Given the description of an element on the screen output the (x, y) to click on. 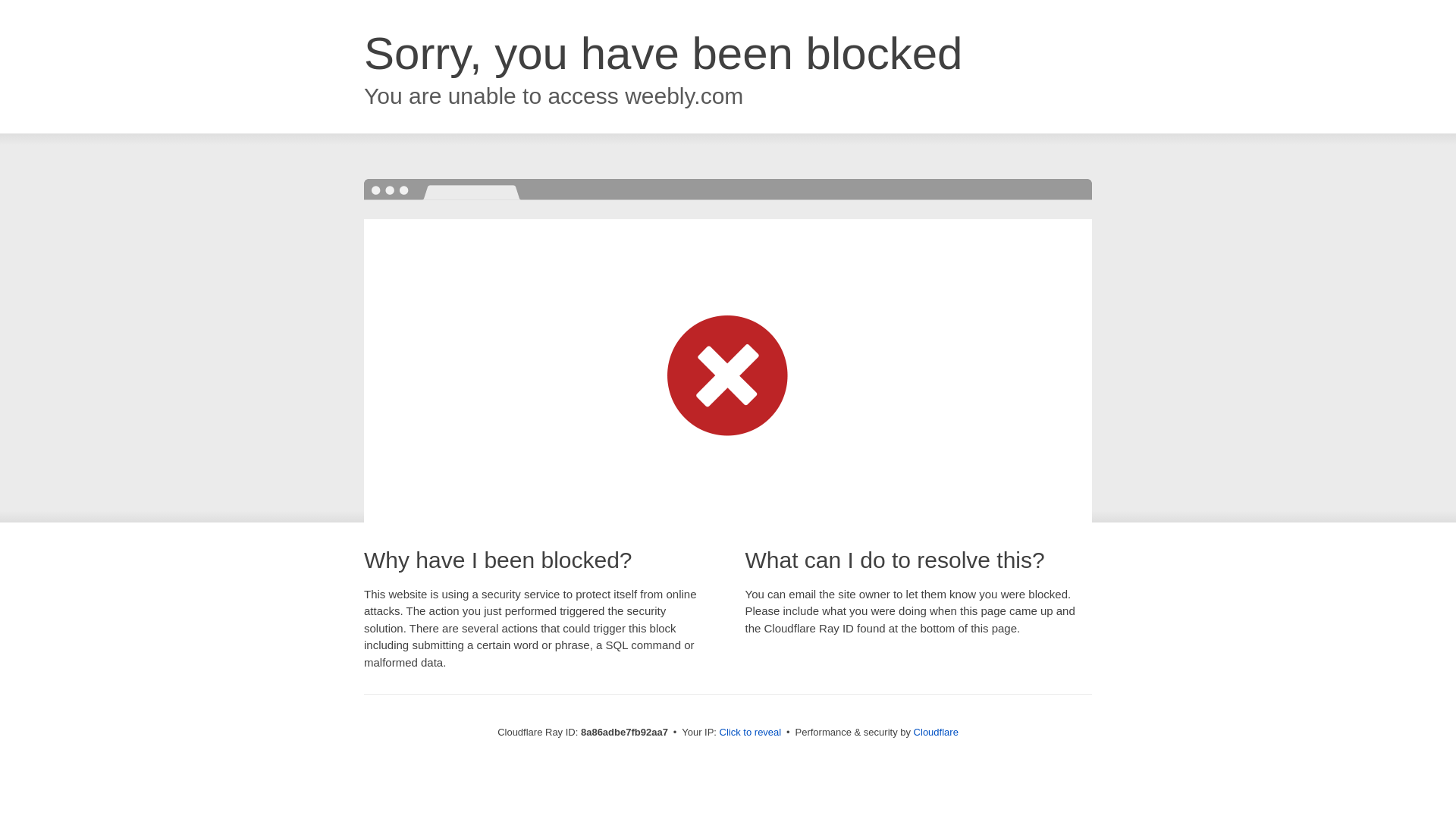
Click to reveal (750, 732)
Cloudflare (936, 731)
